Given the description of an element on the screen output the (x, y) to click on. 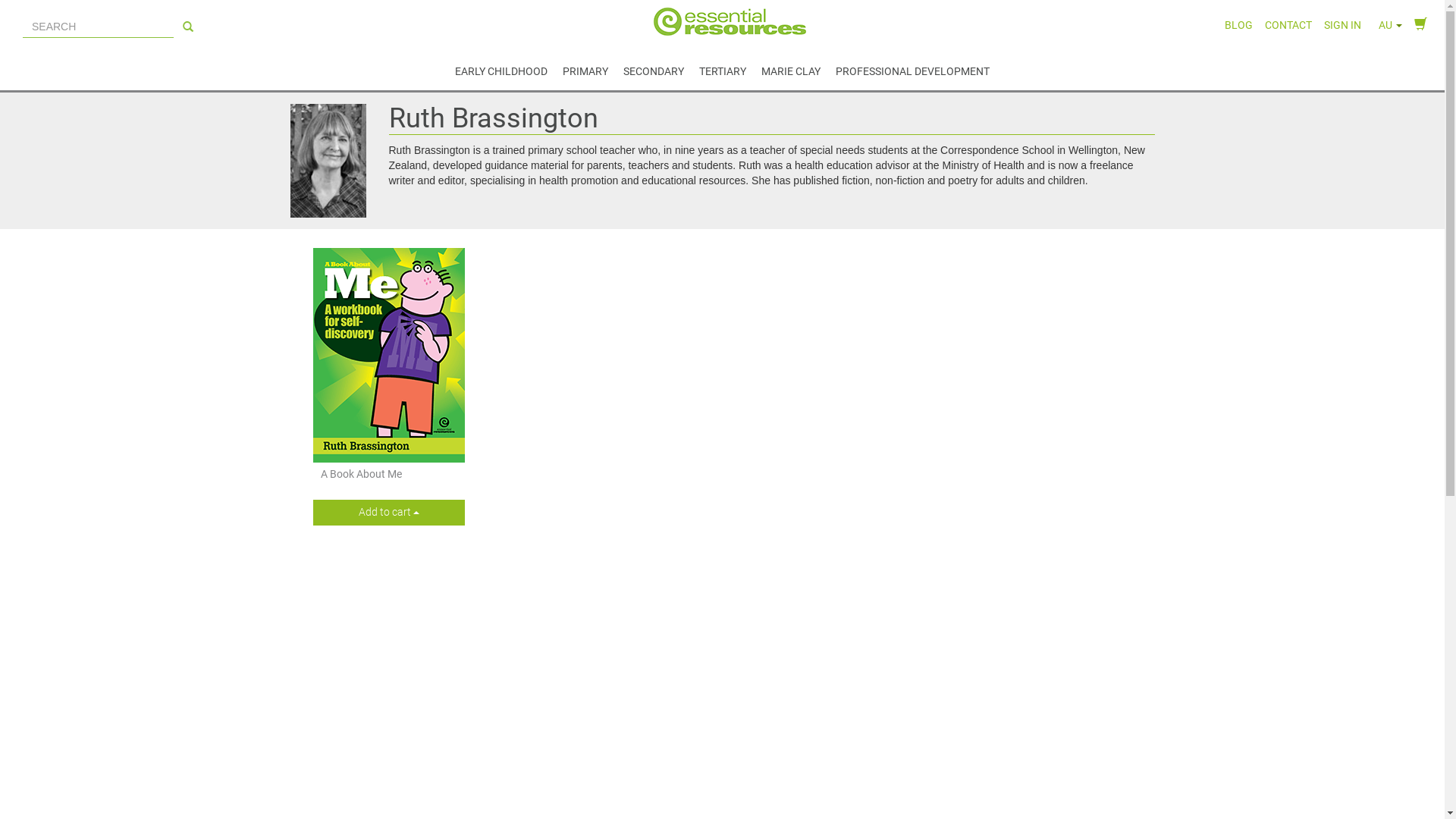
EARLY CHILDHOOD Element type: text (500, 67)
SIGN IN Element type: text (1342, 21)
PRIMARY Element type: text (585, 67)
BLOG Element type: text (1238, 21)
MARIE CLAY Element type: text (790, 67)
PROFESSIONAL DEVELOPMENT Element type: text (912, 67)
CONTACT Element type: text (1287, 21)
SECONDARY Element type: text (653, 67)
A Book About Me Element type: text (360, 473)
AU Element type: text (1387, 21)
TERTIARY Element type: text (722, 67)
